Given the description of an element on the screen output the (x, y) to click on. 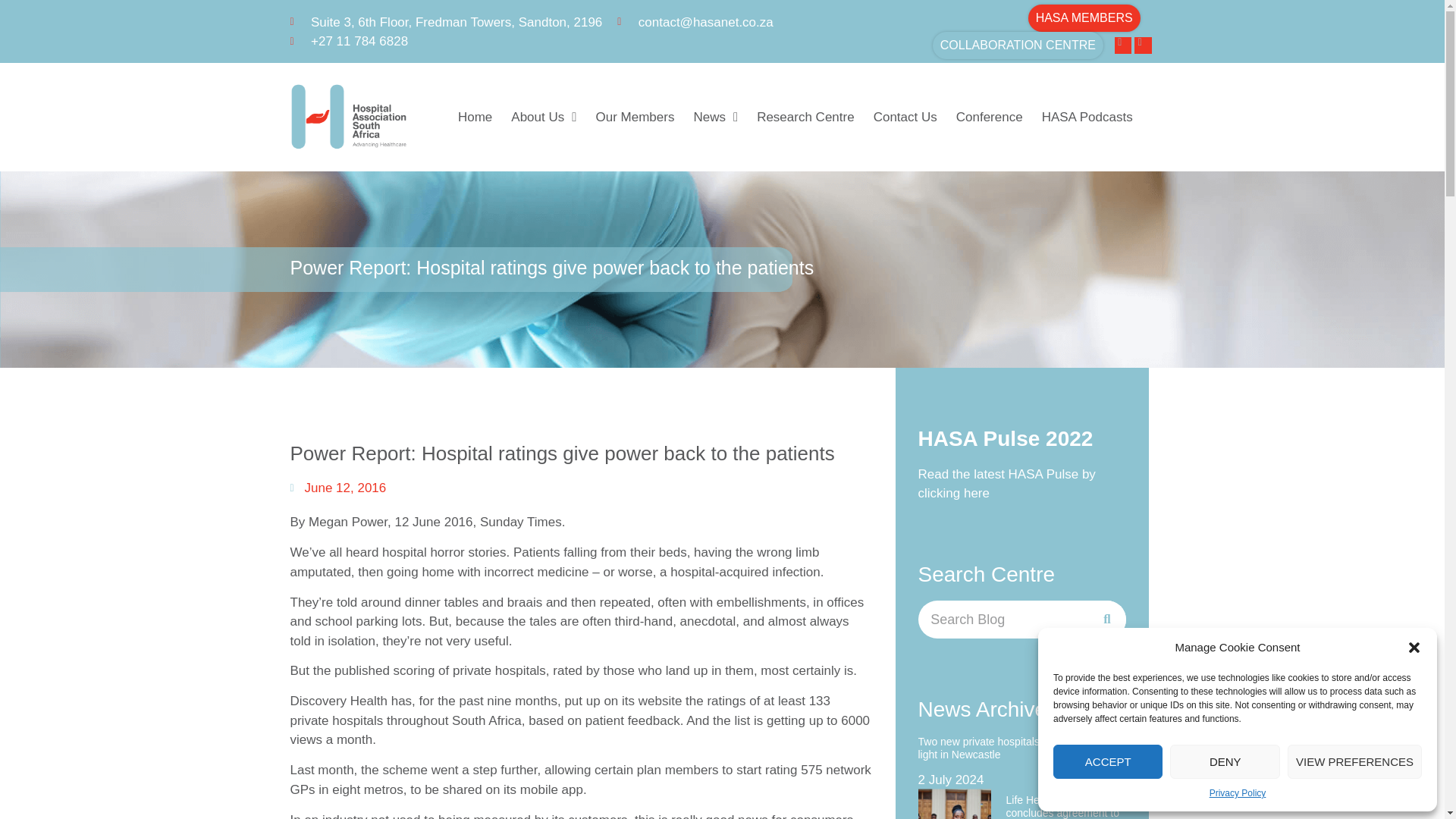
Privacy Policy (1237, 793)
DENY (1224, 761)
VIEW PREFERENCES (1354, 761)
COLLABORATION CENTRE (1018, 44)
Research Centre (805, 117)
Suite 3, 6th Floor, Fredman Towers, Sandton, 2196 (445, 21)
News (715, 117)
About Us (543, 117)
ACCEPT (1106, 761)
Home (475, 117)
Our Members (634, 117)
HASA MEMBERS (1083, 17)
